Given the description of an element on the screen output the (x, y) to click on. 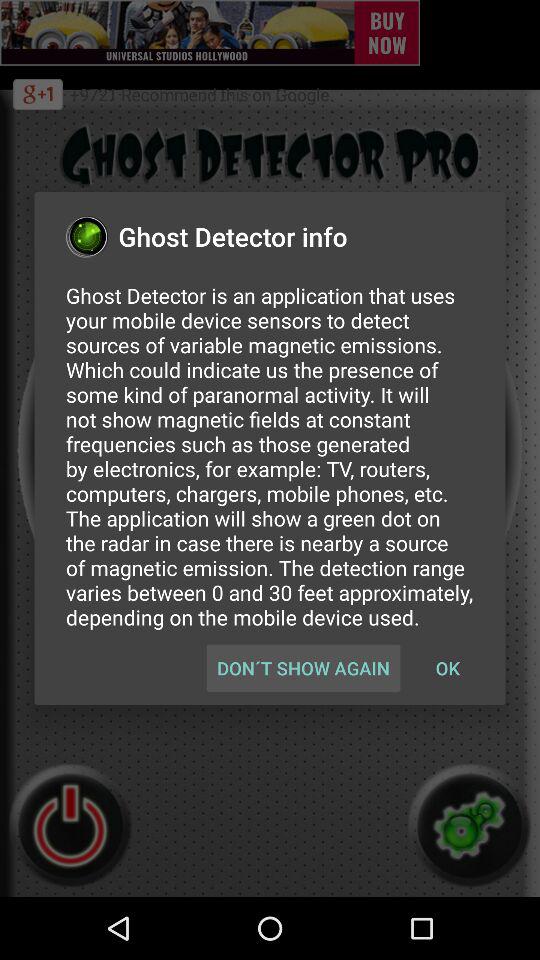
click the item to the right of don t show item (447, 667)
